Given the description of an element on the screen output the (x, y) to click on. 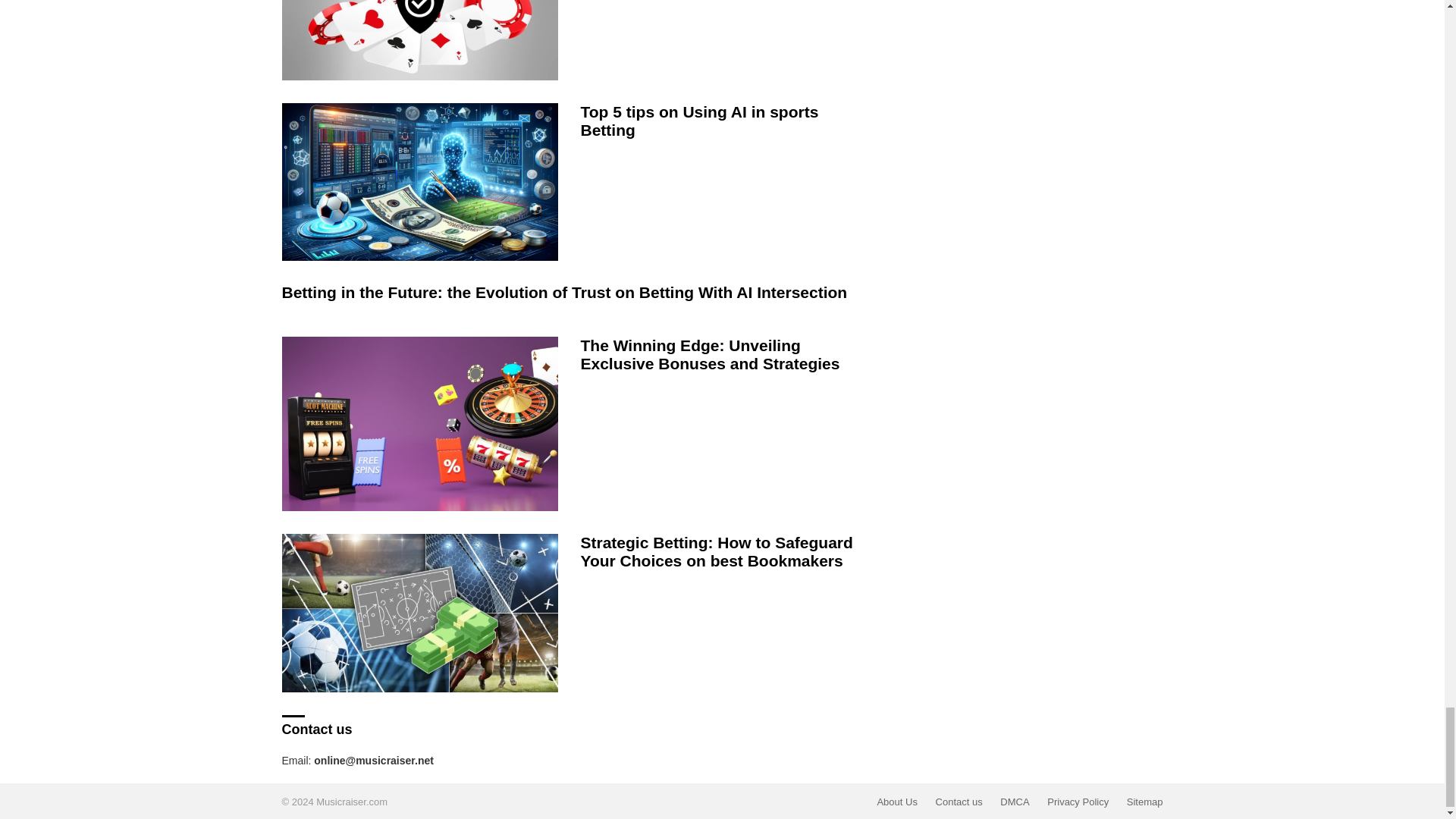
Top 5 tips on Using AI in sports Betting (419, 182)
The Winning Edge: Unveiling Exclusive Bonuses and Strategies (419, 423)
